Given the description of an element on the screen output the (x, y) to click on. 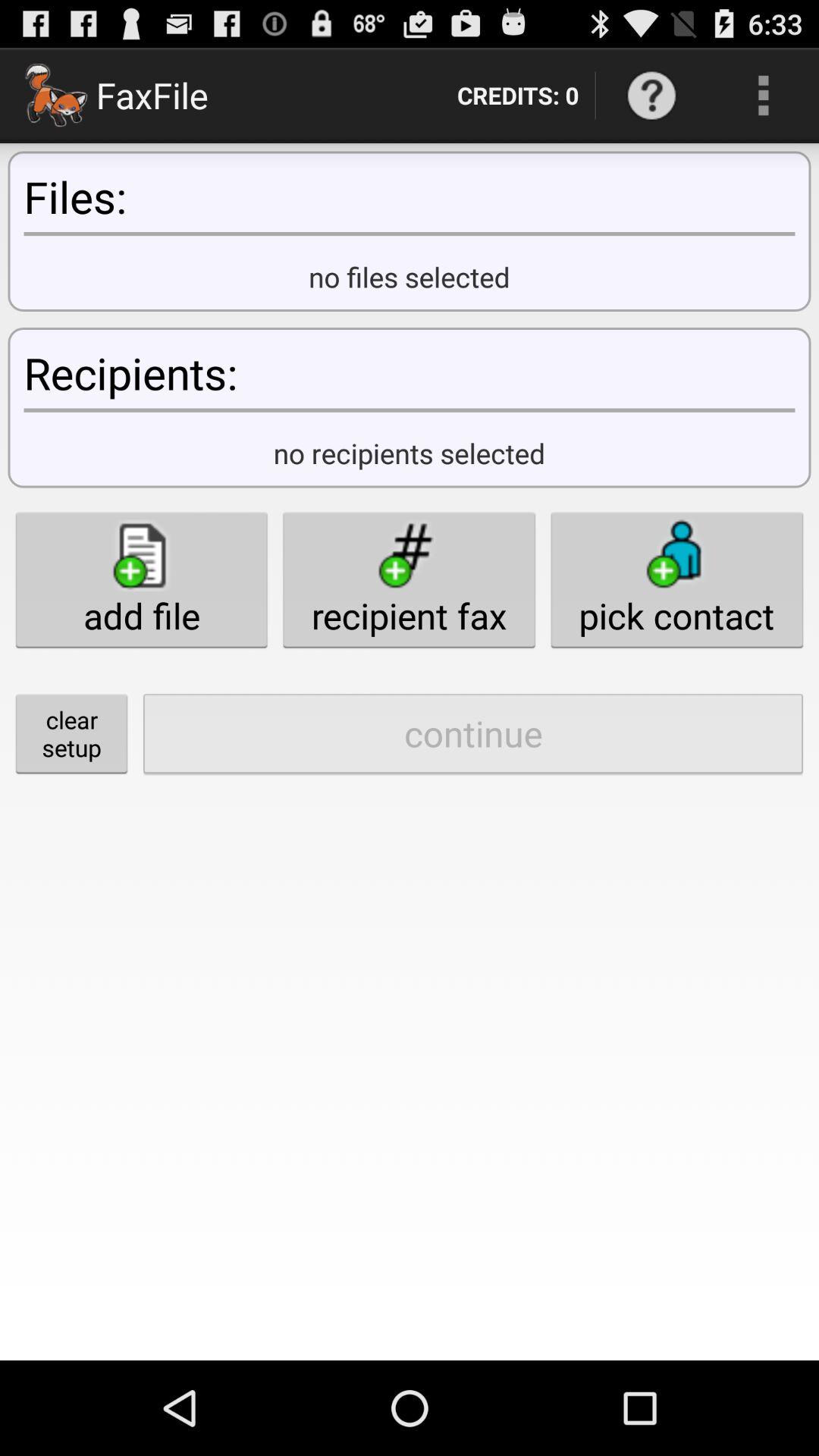
click button next to the continue icon (71, 733)
